Given the description of an element on the screen output the (x, y) to click on. 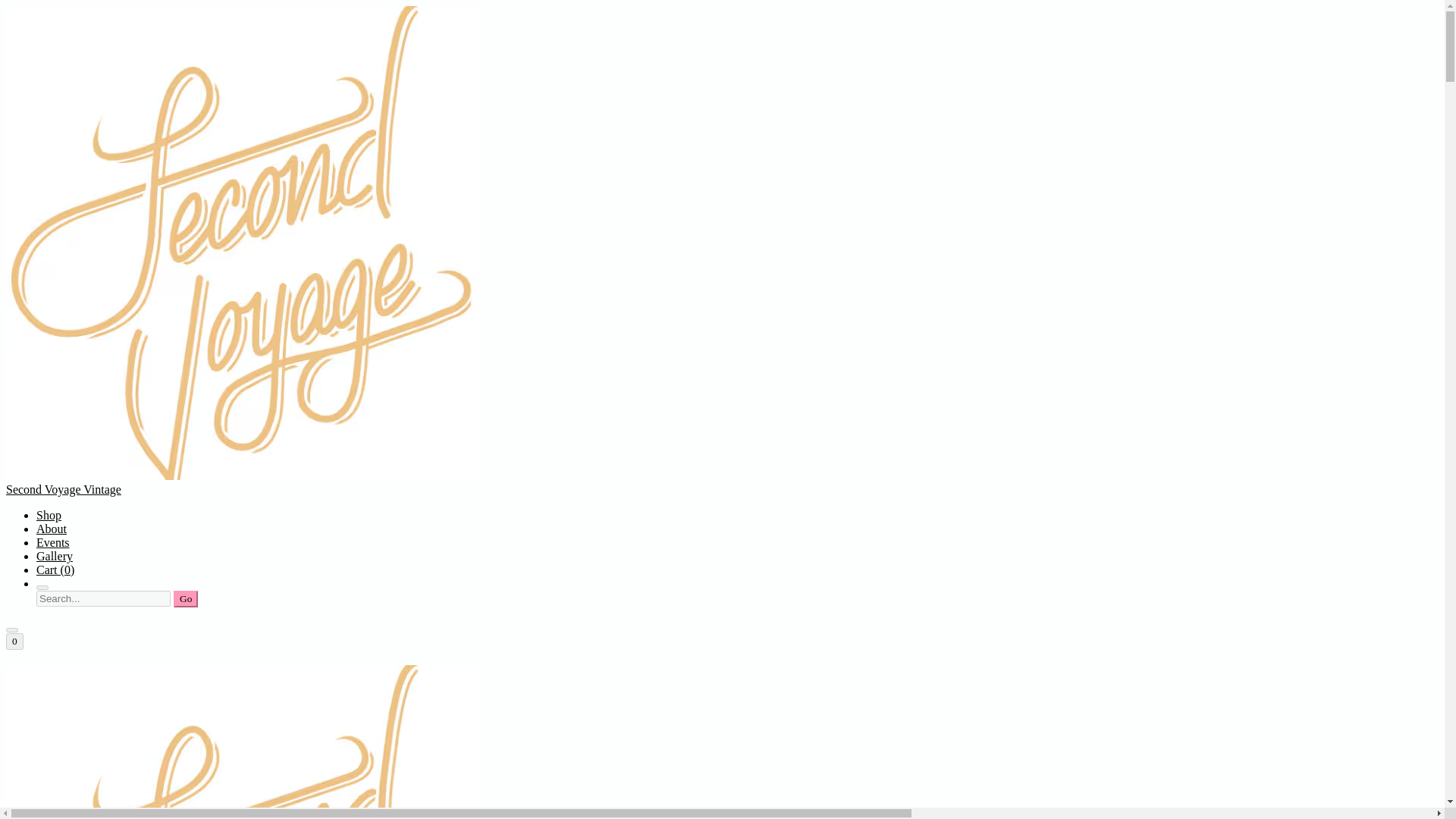
0 (14, 641)
Events (52, 542)
Go (185, 598)
Go (185, 598)
Shop (48, 514)
Gallery (54, 555)
About (51, 528)
